Given the description of an element on the screen output the (x, y) to click on. 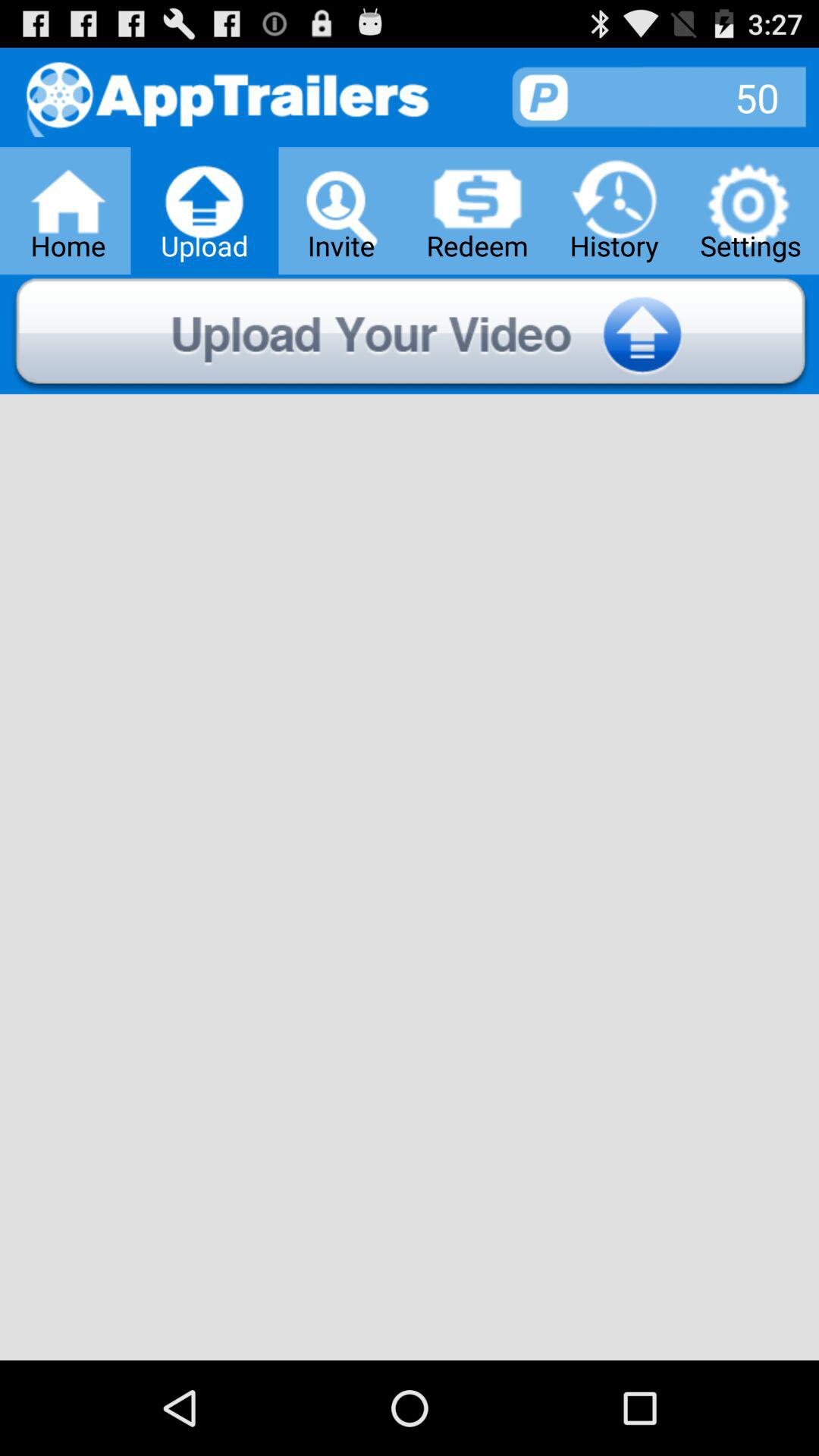
go to download (409, 334)
